Given the description of an element on the screen output the (x, y) to click on. 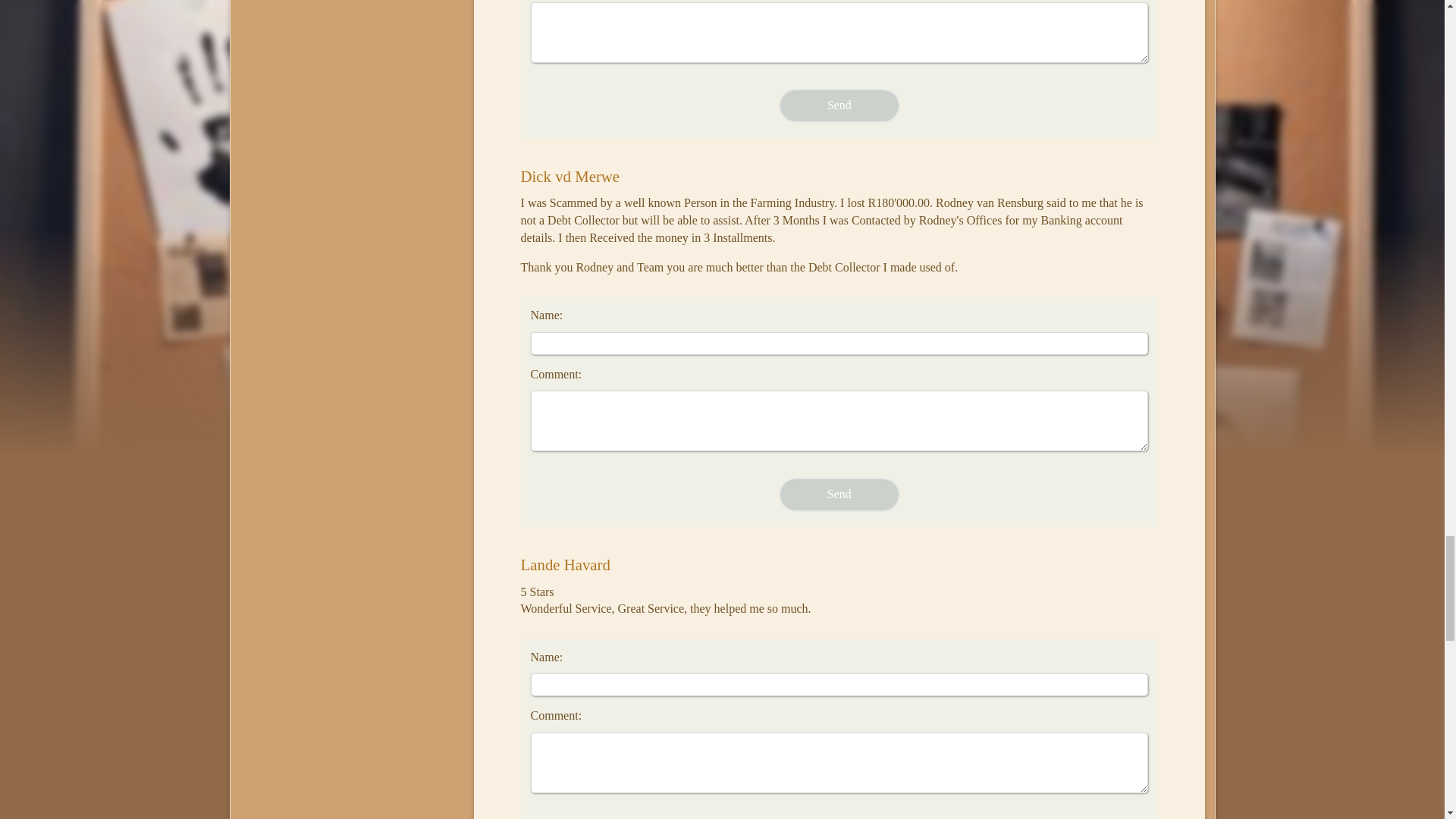
Send (838, 494)
Send (838, 105)
Send (838, 494)
Send (838, 105)
